Given the description of an element on the screen output the (x, y) to click on. 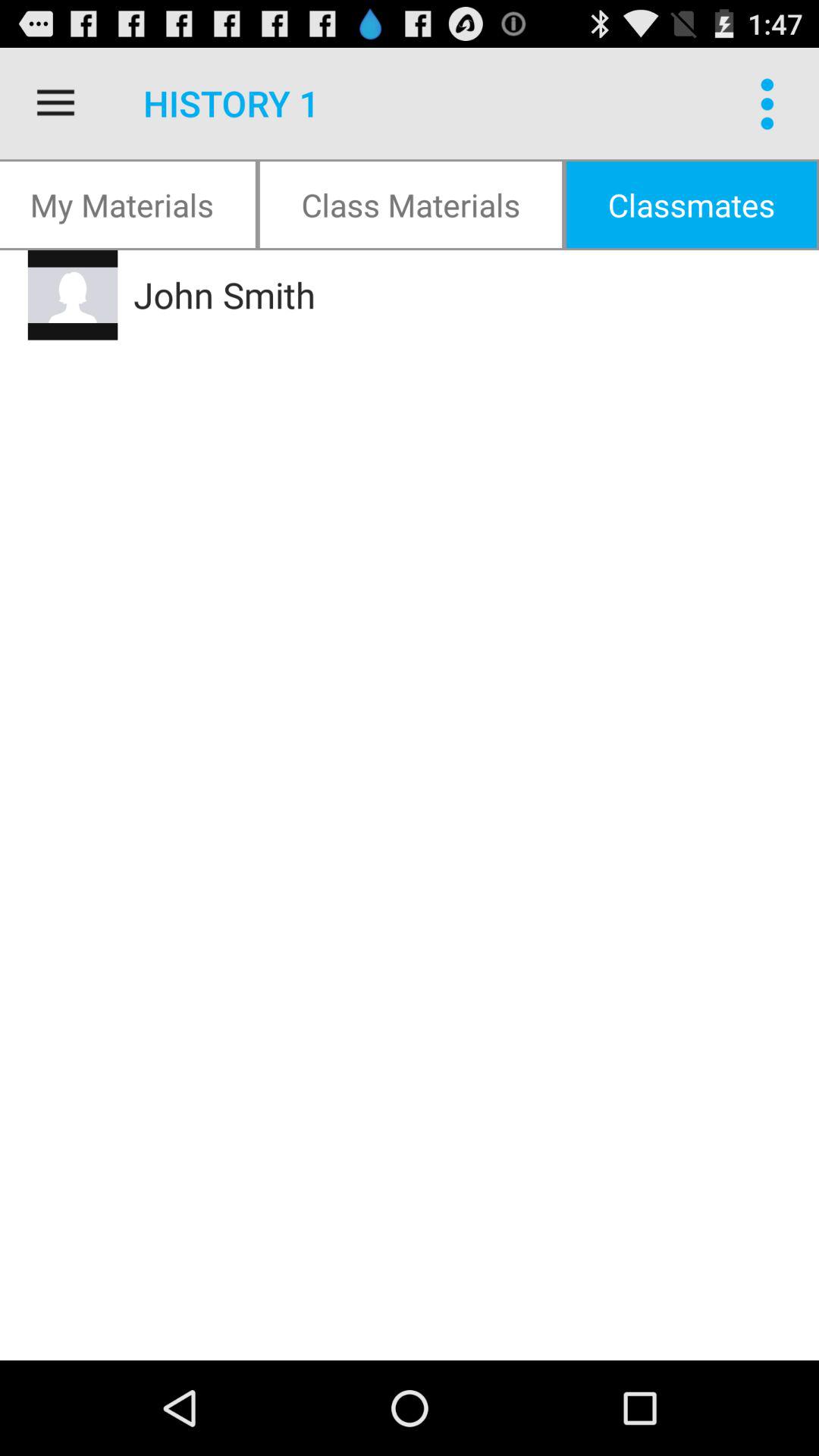
press item above the john smith (691, 204)
